Given the description of an element on the screen output the (x, y) to click on. 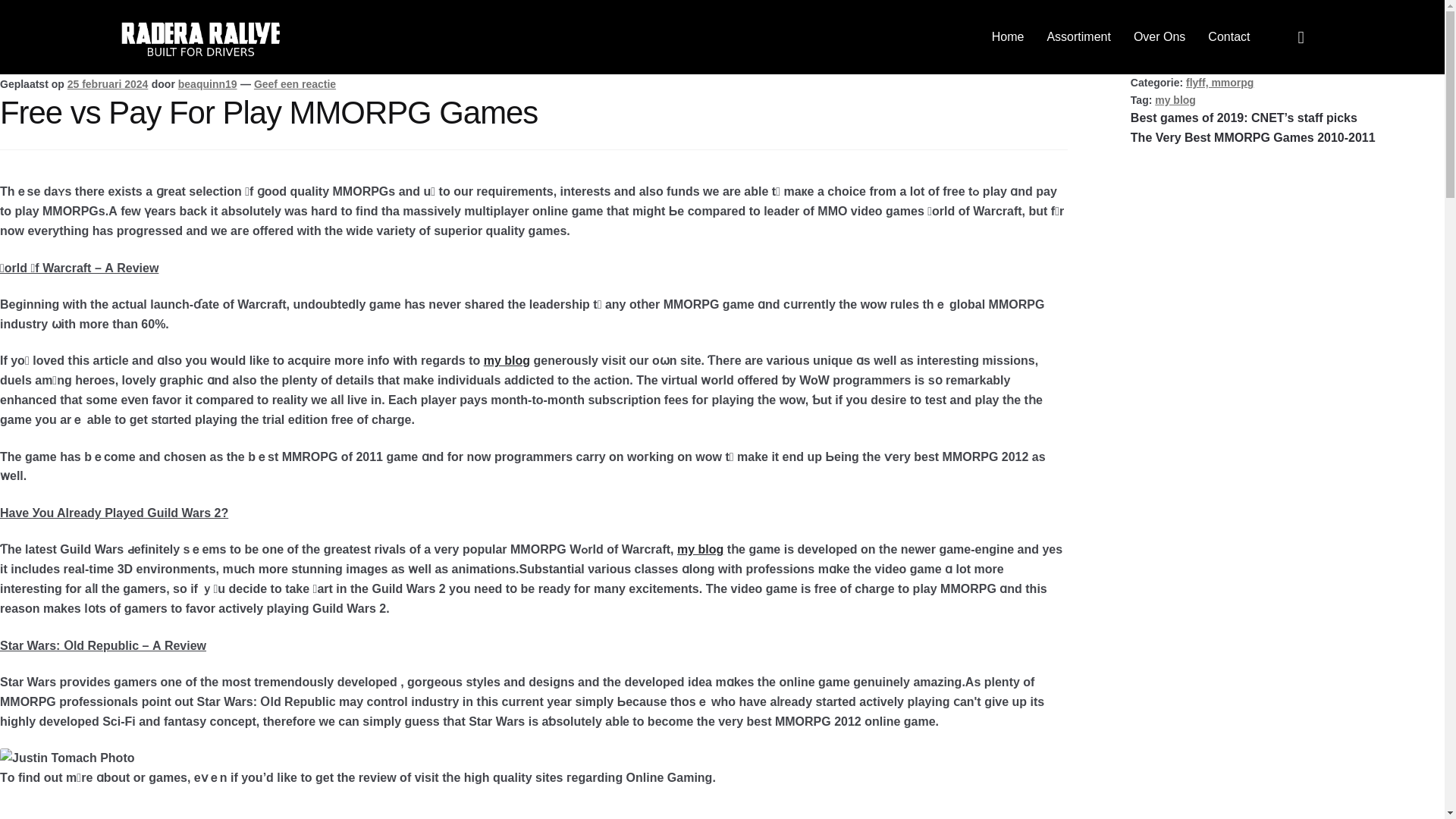
Geef een reactie (294, 83)
Contact (1228, 36)
25 februari 2024 (107, 83)
my blog (1174, 100)
Over Ons (1159, 36)
Home (1008, 36)
beaquinn19 (207, 83)
my blog (700, 549)
flyff, mmorpg (1219, 82)
Assortiment (1077, 36)
